Given the description of an element on the screen output the (x, y) to click on. 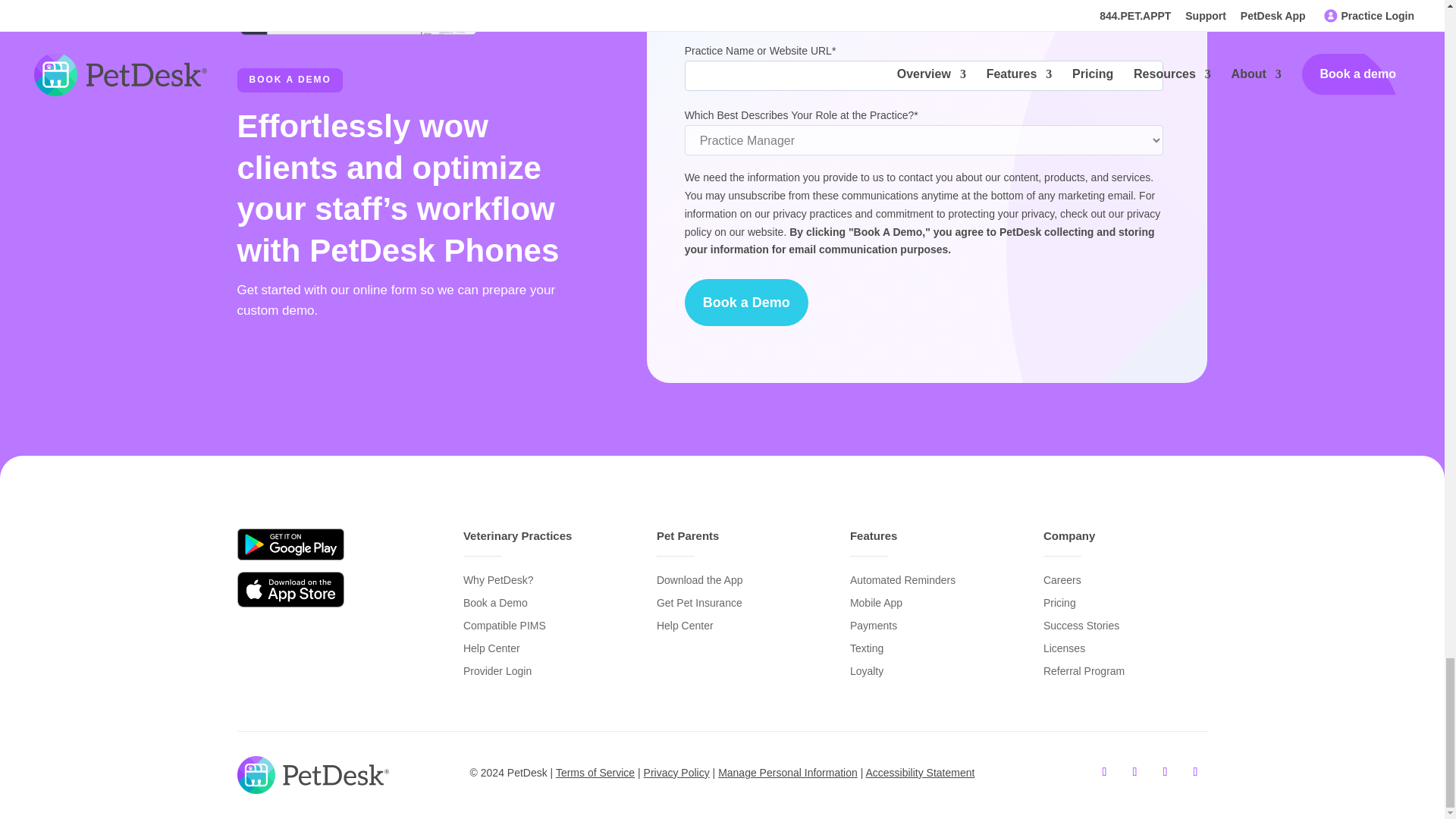
Follow on LinkedIn (1134, 771)
Follow on Youtube (1164, 771)
Book a Demo (746, 302)
Follow on Instagram (1194, 771)
Follow on Facebook (1104, 771)
